Given the description of an element on the screen output the (x, y) to click on. 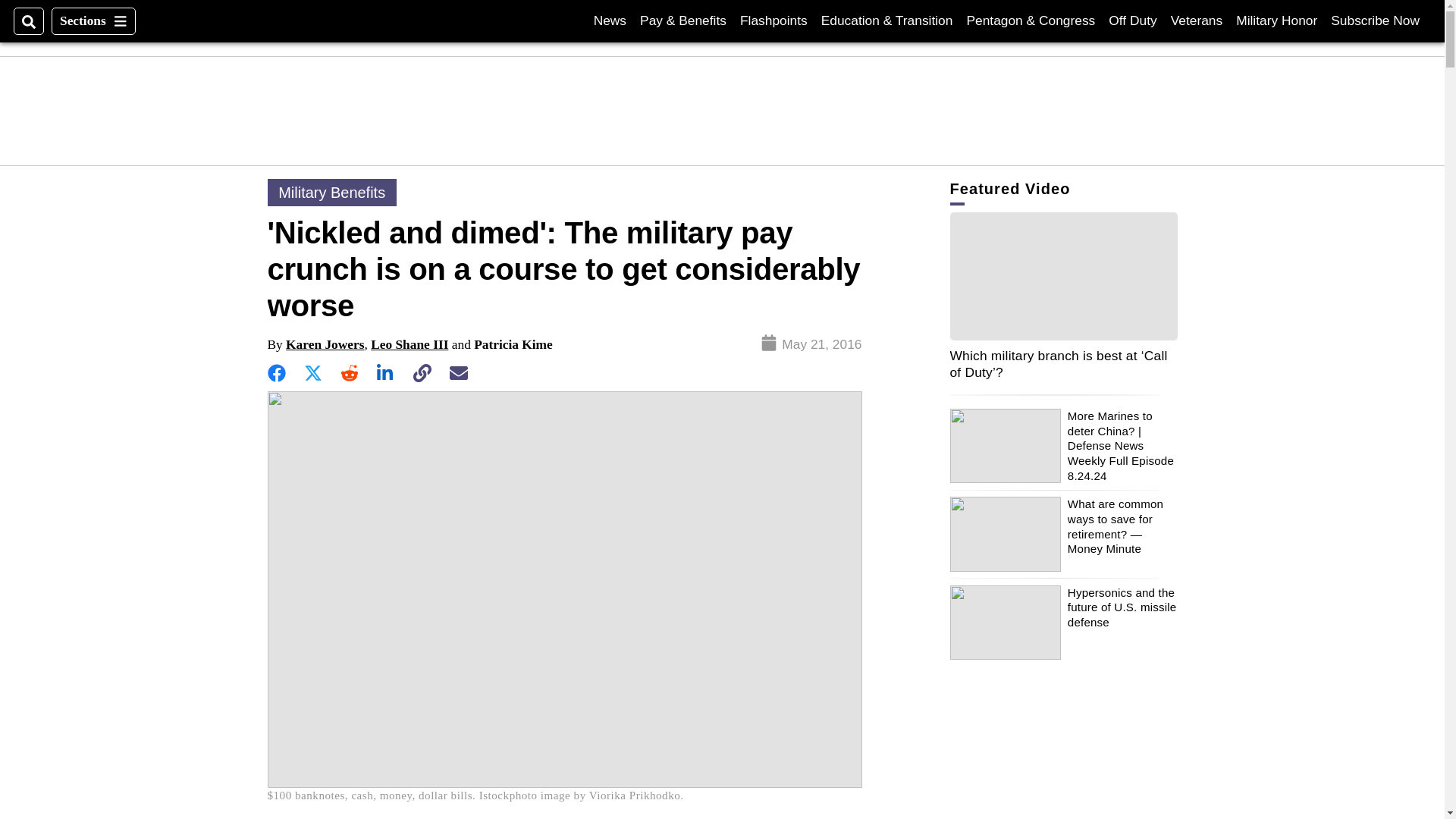
Flashpoints (773, 20)
Off Duty (1132, 20)
Military Honor (1276, 20)
Sections (1374, 20)
News (92, 21)
Veterans (610, 20)
